Given the description of an element on the screen output the (x, y) to click on. 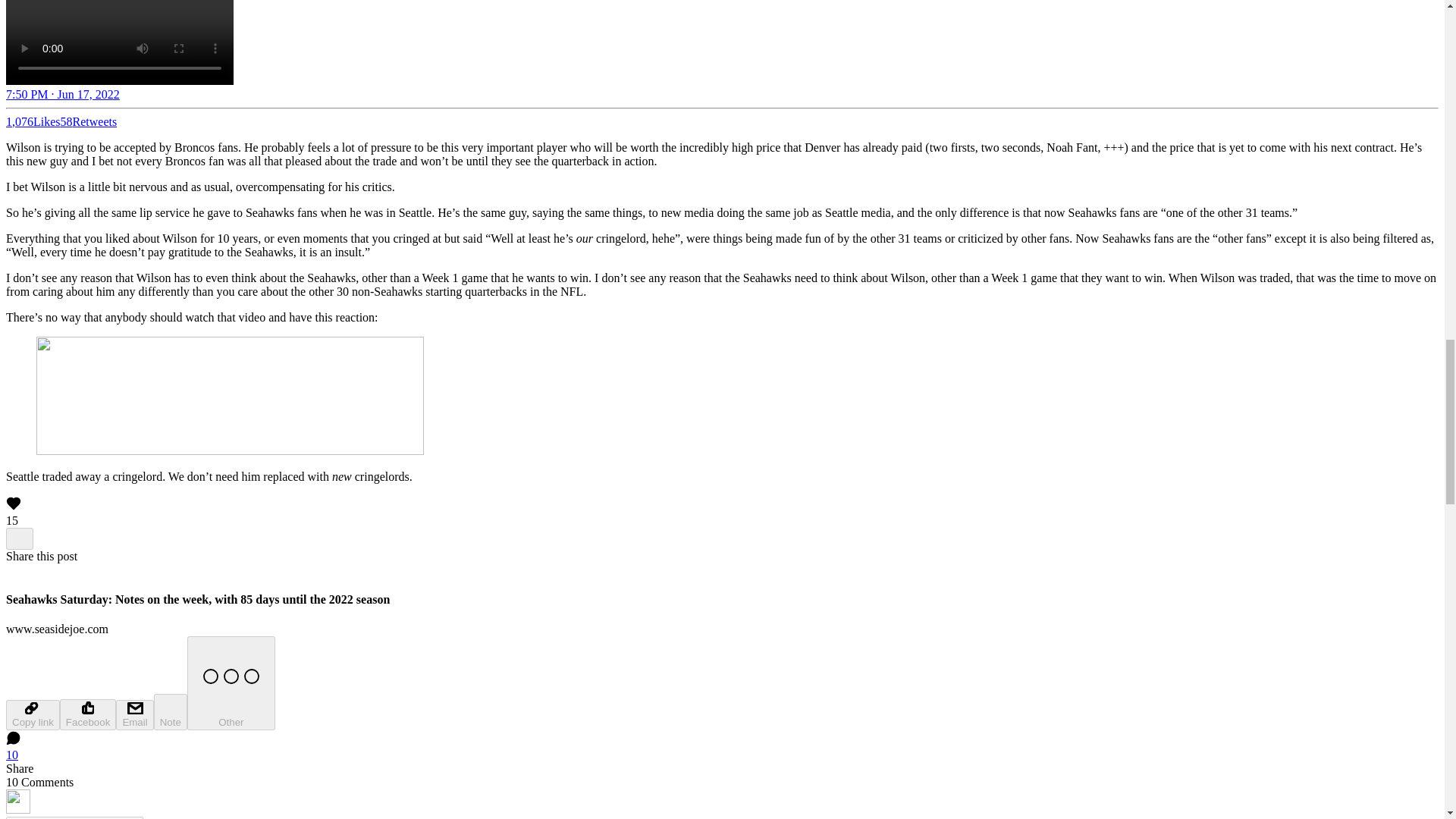
Facebook (87, 714)
Copy link (32, 715)
Email (134, 715)
Note (170, 711)
Other (231, 683)
